Given the description of an element on the screen output the (x, y) to click on. 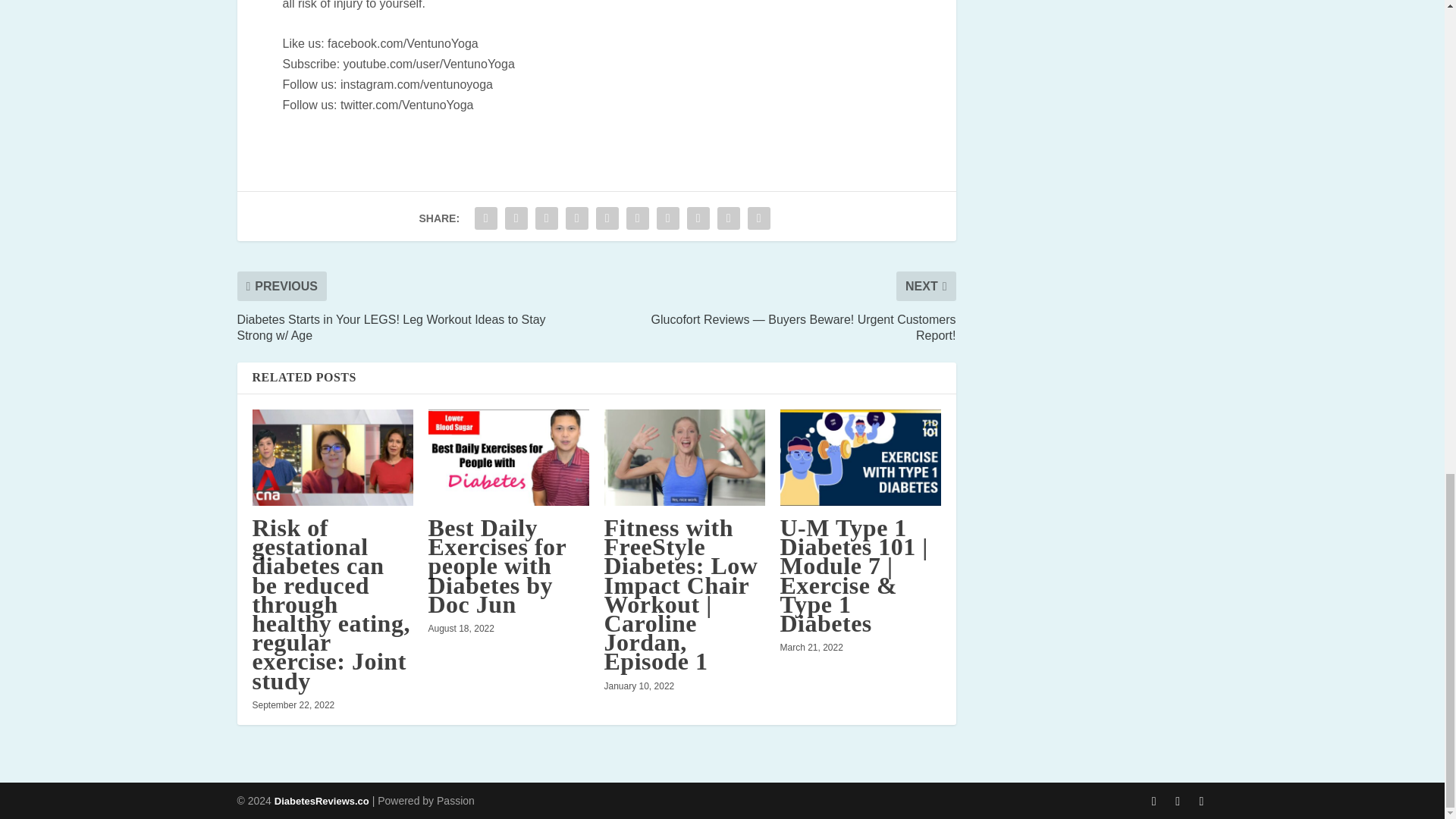
Best Daily Exercises for people with Diabetes by Doc Jun (508, 457)
